Given the description of an element on the screen output the (x, y) to click on. 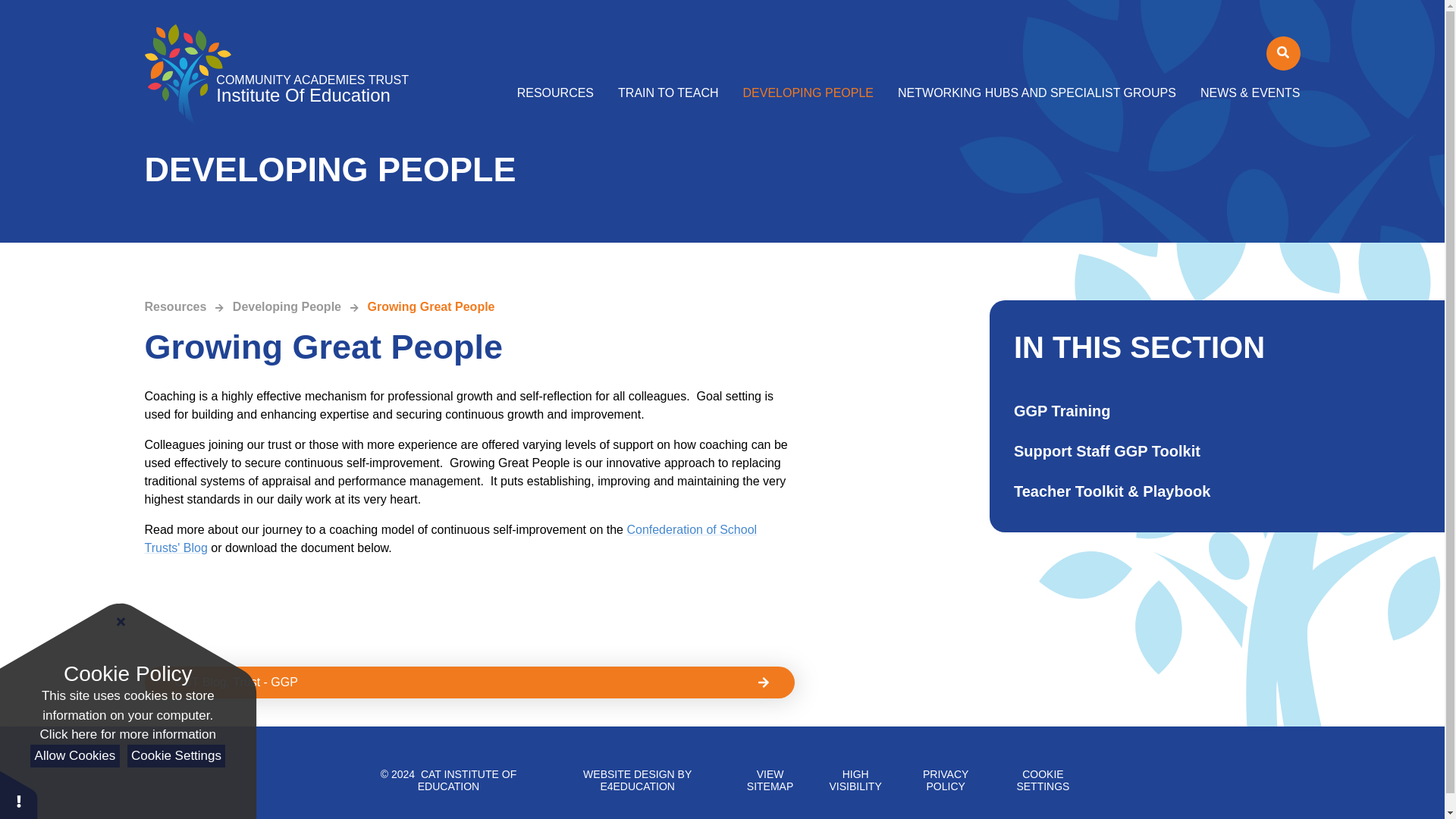
RESOURCES (560, 92)
TRAIN TO TEACH (667, 92)
DEVELOPING PEOPLE (808, 92)
NETWORKING HUBS AND SPECIALIST GROUPS (1036, 92)
